Given the description of an element on the screen output the (x, y) to click on. 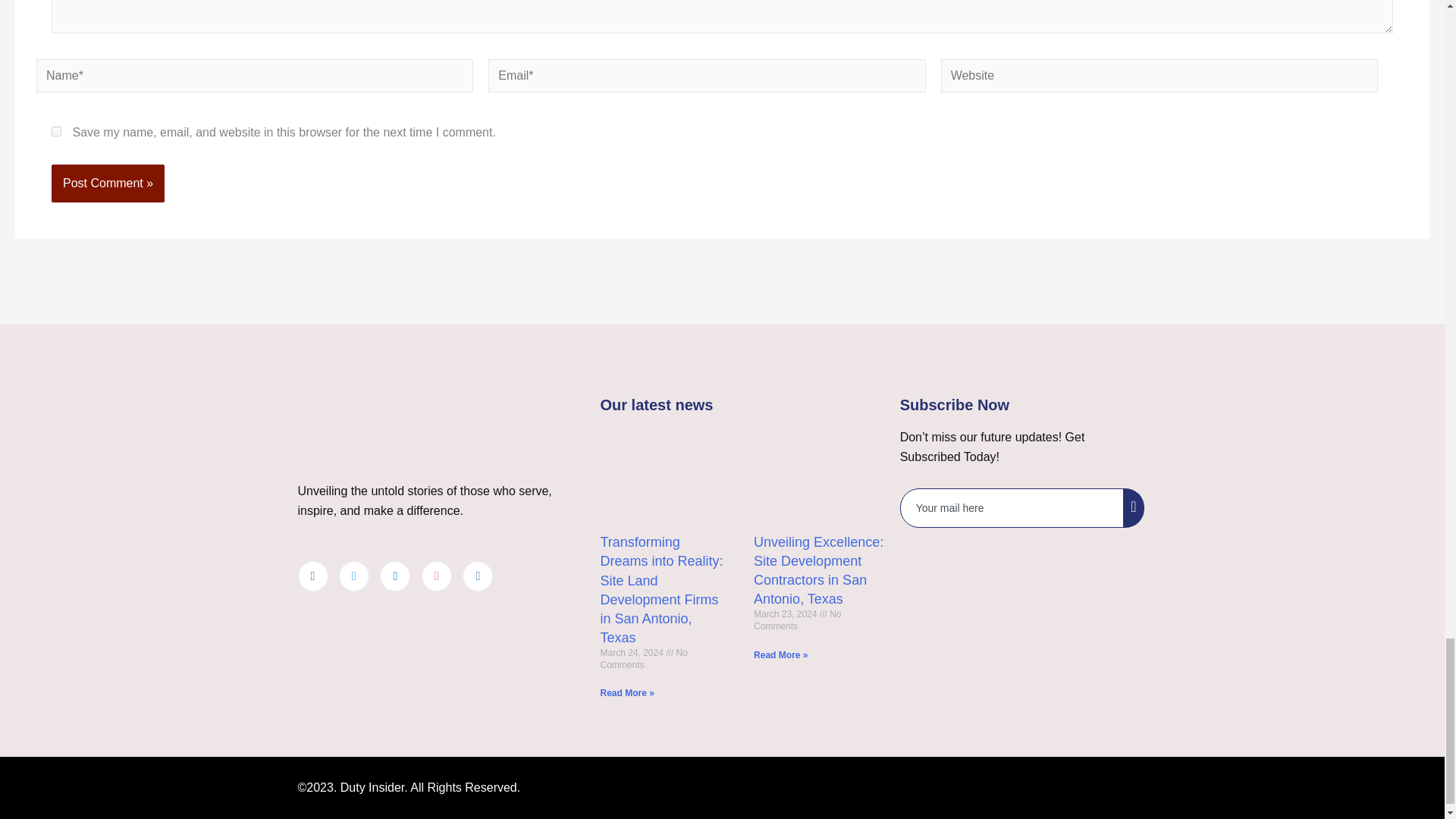
yes (55, 131)
